Given the description of an element on the screen output the (x, y) to click on. 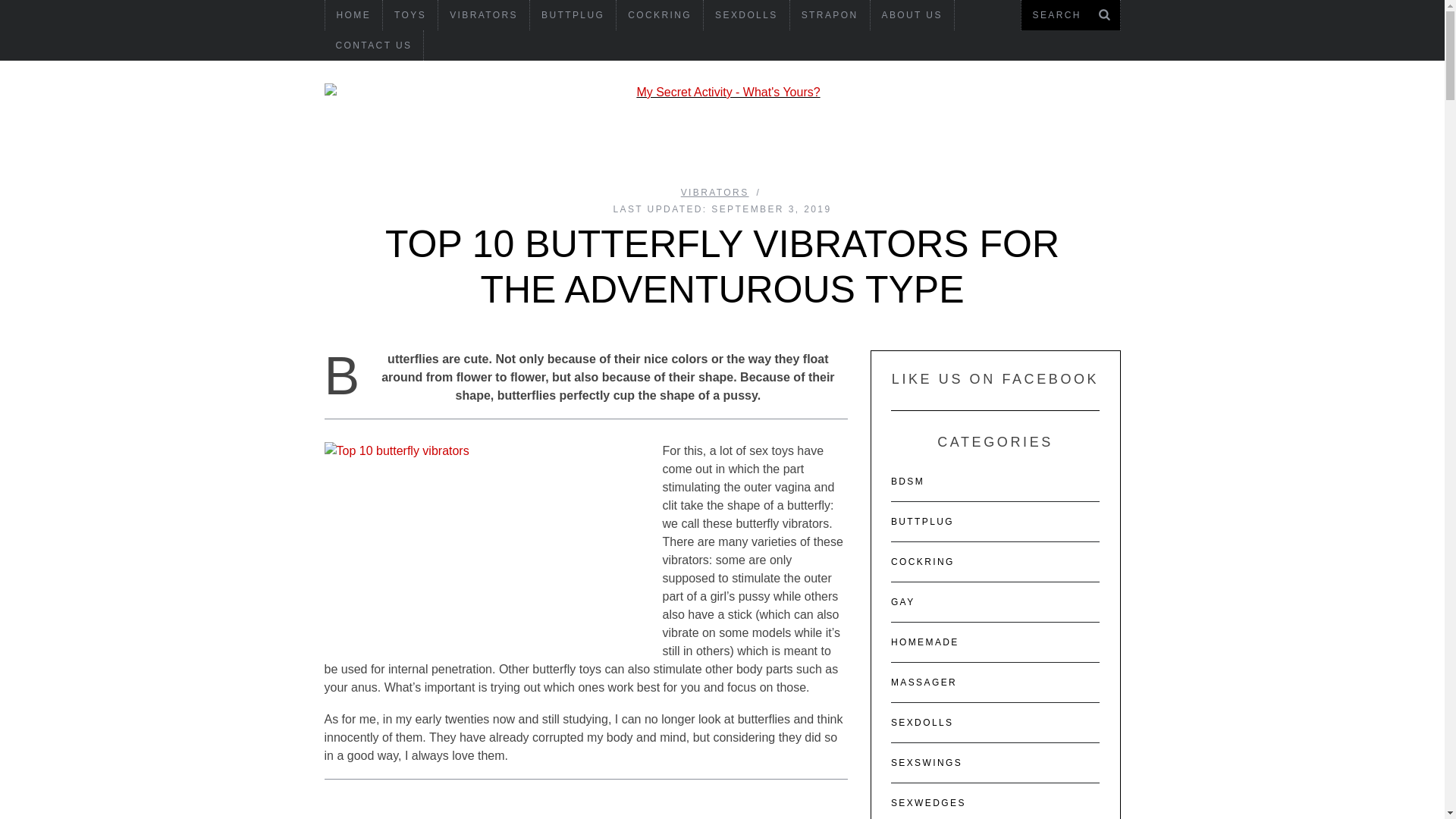
My Secret Activity - What's Yours? (722, 92)
TOYS (410, 14)
CONTACT US (373, 45)
ABOUT US (911, 14)
VIBRATORS (483, 14)
SEXDOLLS (746, 14)
Search (1070, 15)
HOME (352, 14)
COCKRING (659, 14)
BUTTPLUG (572, 14)
